Given the description of an element on the screen output the (x, y) to click on. 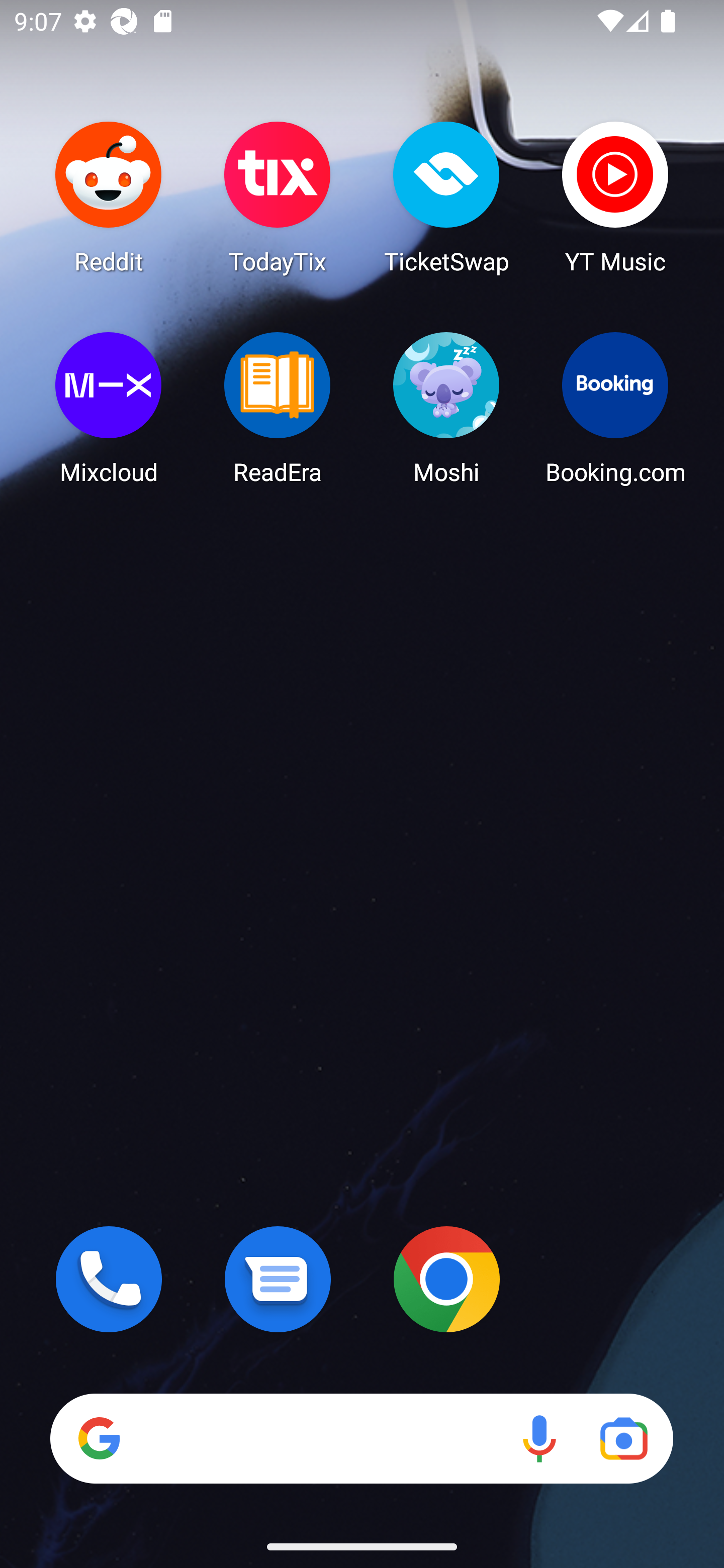
Reddit (108, 196)
TodayTix (277, 196)
TicketSwap (445, 196)
YT Music (615, 196)
Mixcloud (108, 407)
ReadEra (277, 407)
Moshi (445, 407)
Booking.com (615, 407)
Phone (108, 1279)
Messages (277, 1279)
Chrome (446, 1279)
Search Voice search Google Lens (361, 1438)
Voice search (539, 1438)
Google Lens (623, 1438)
